Given the description of an element on the screen output the (x, y) to click on. 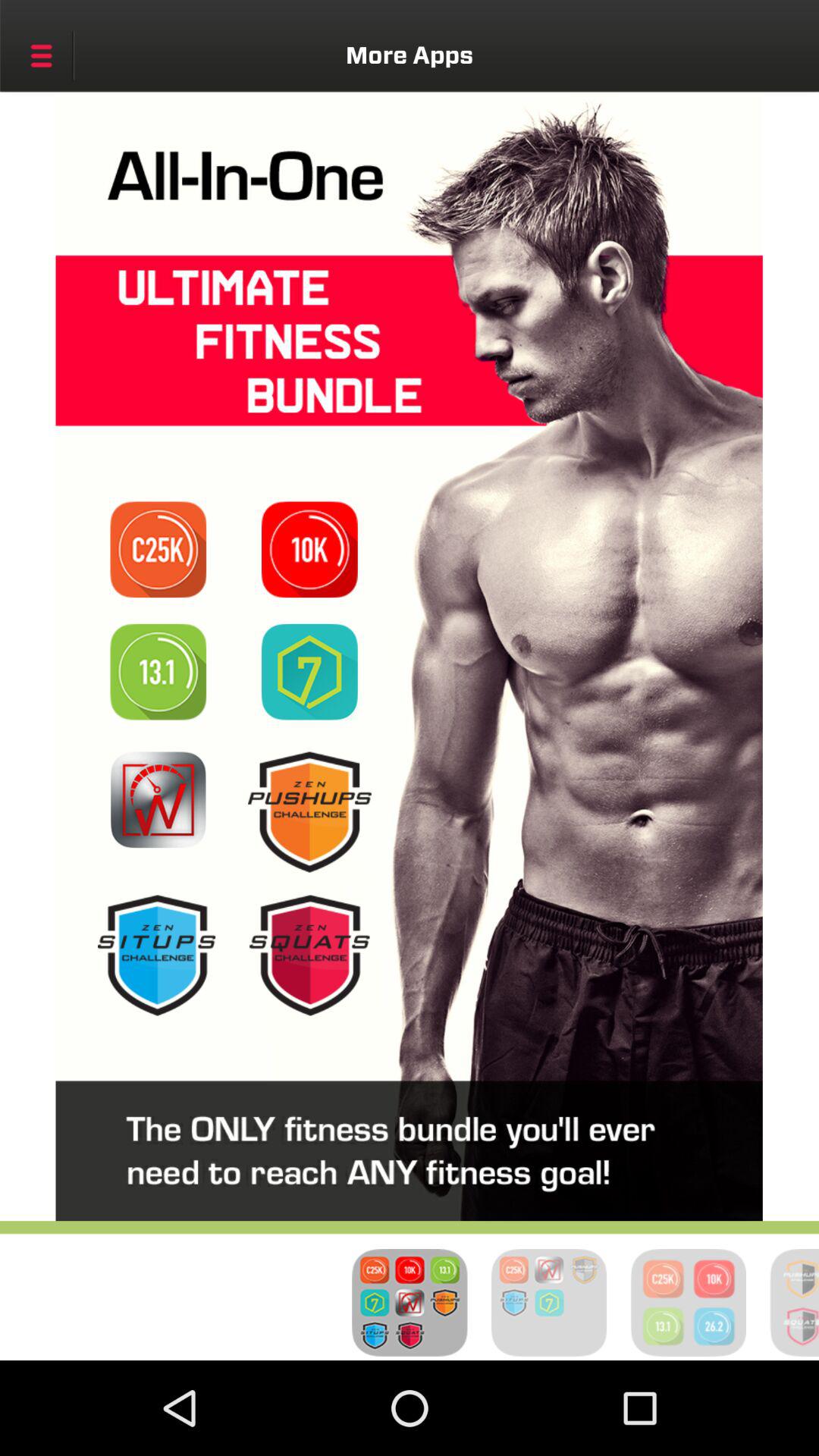
open workout plan (309, 671)
